Given the description of an element on the screen output the (x, y) to click on. 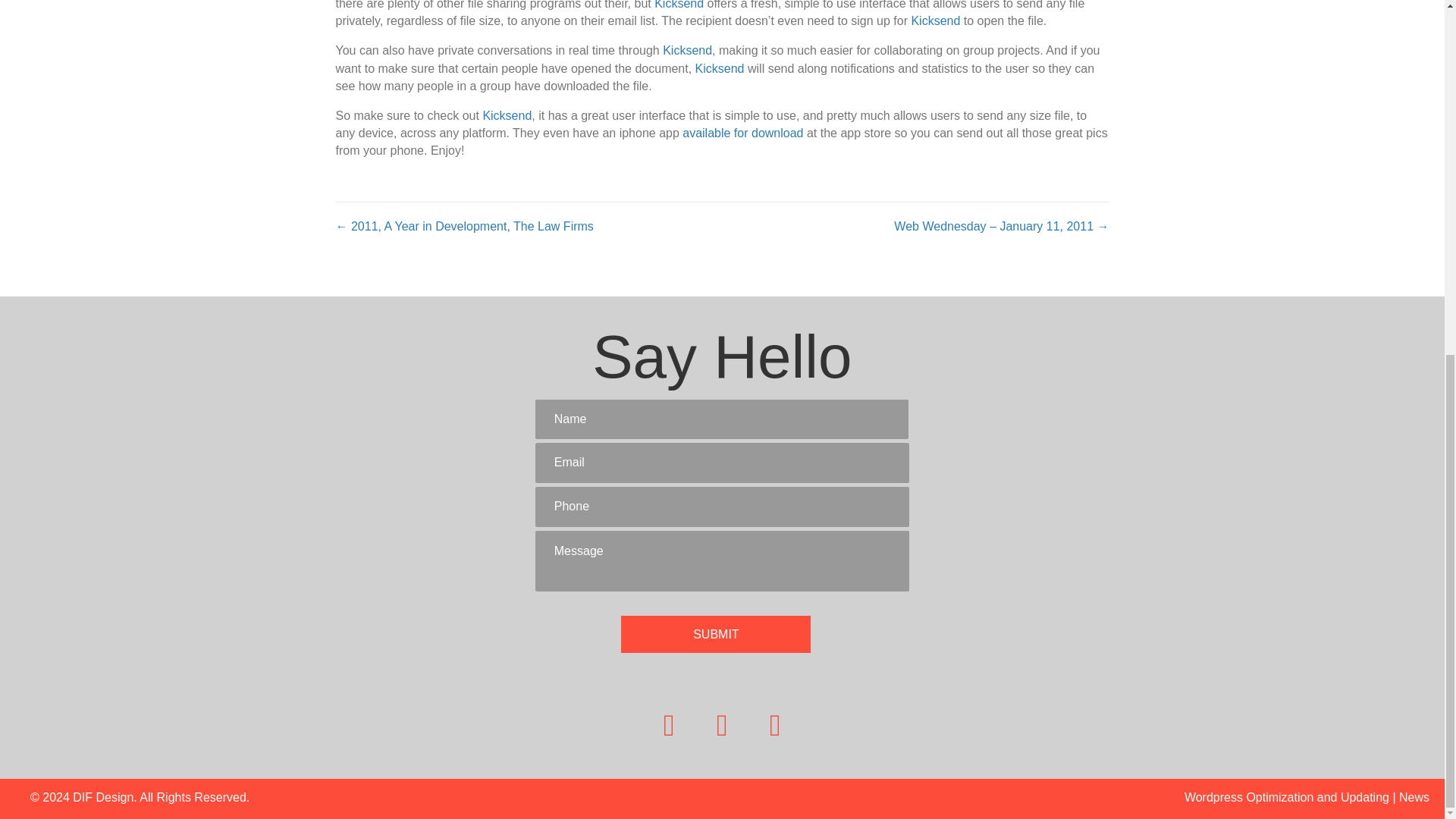
Wordpress Optimization and Updating (1287, 797)
Kicksend (719, 67)
Kicksend (935, 20)
Kicksend (686, 50)
News (1414, 797)
Submit (715, 633)
Facebook (668, 725)
Kicksend App (742, 132)
Kicksend (678, 4)
LinkedIn (774, 725)
Kicksend (678, 4)
Kicksend (506, 115)
Kicksend (719, 67)
Kicksend (686, 50)
Submit (715, 633)
